Given the description of an element on the screen output the (x, y) to click on. 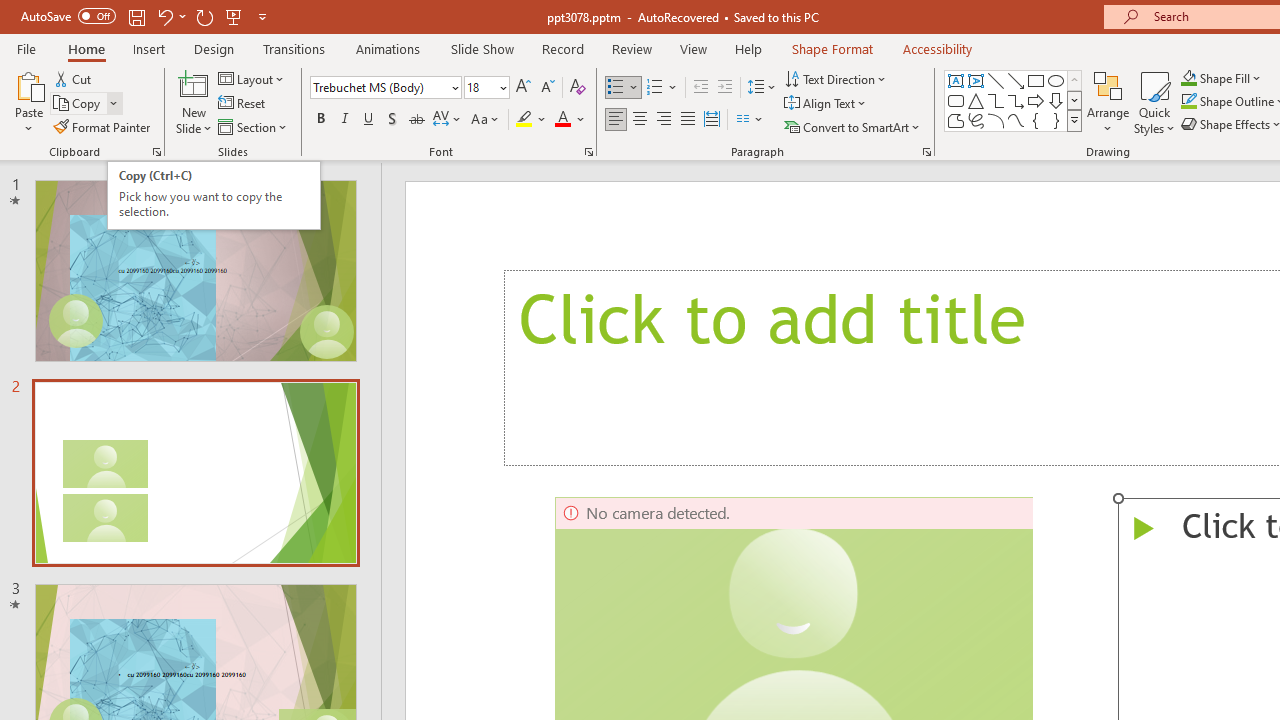
Shape Outline Green, Accent 1 (1188, 101)
